Given the description of an element on the screen output the (x, y) to click on. 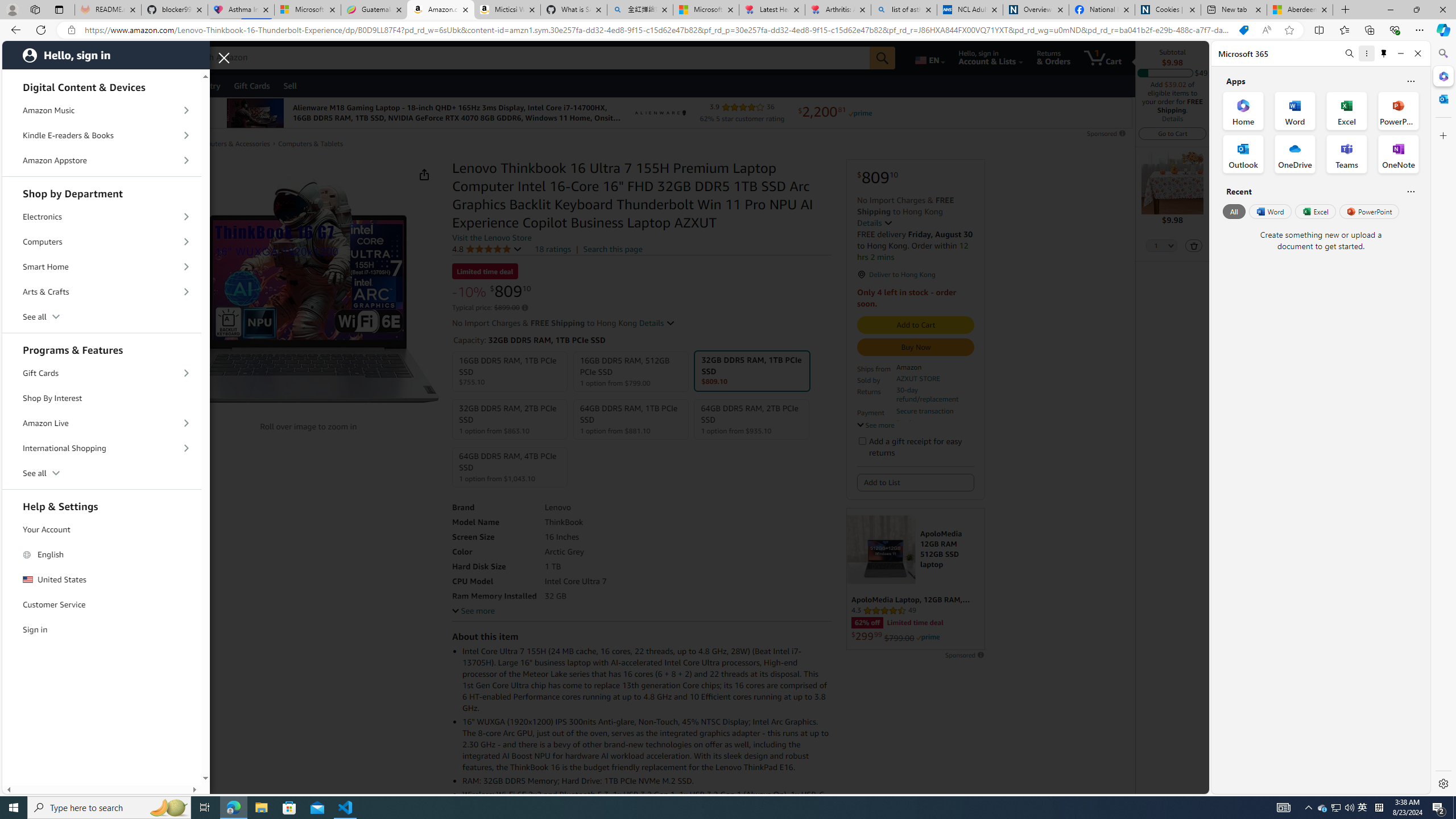
Sell (290, 85)
PowerPoint (1369, 210)
Amazon Appstore (101, 160)
Skip to main content (48, 56)
Outlook Office App (1243, 154)
Digital Content & Devices (101, 85)
Close Customize pane (1442, 135)
Details  (657, 322)
18 ratings (553, 248)
Kindle E-readers & Books (101, 135)
Prime (927, 637)
